Given the description of an element on the screen output the (x, y) to click on. 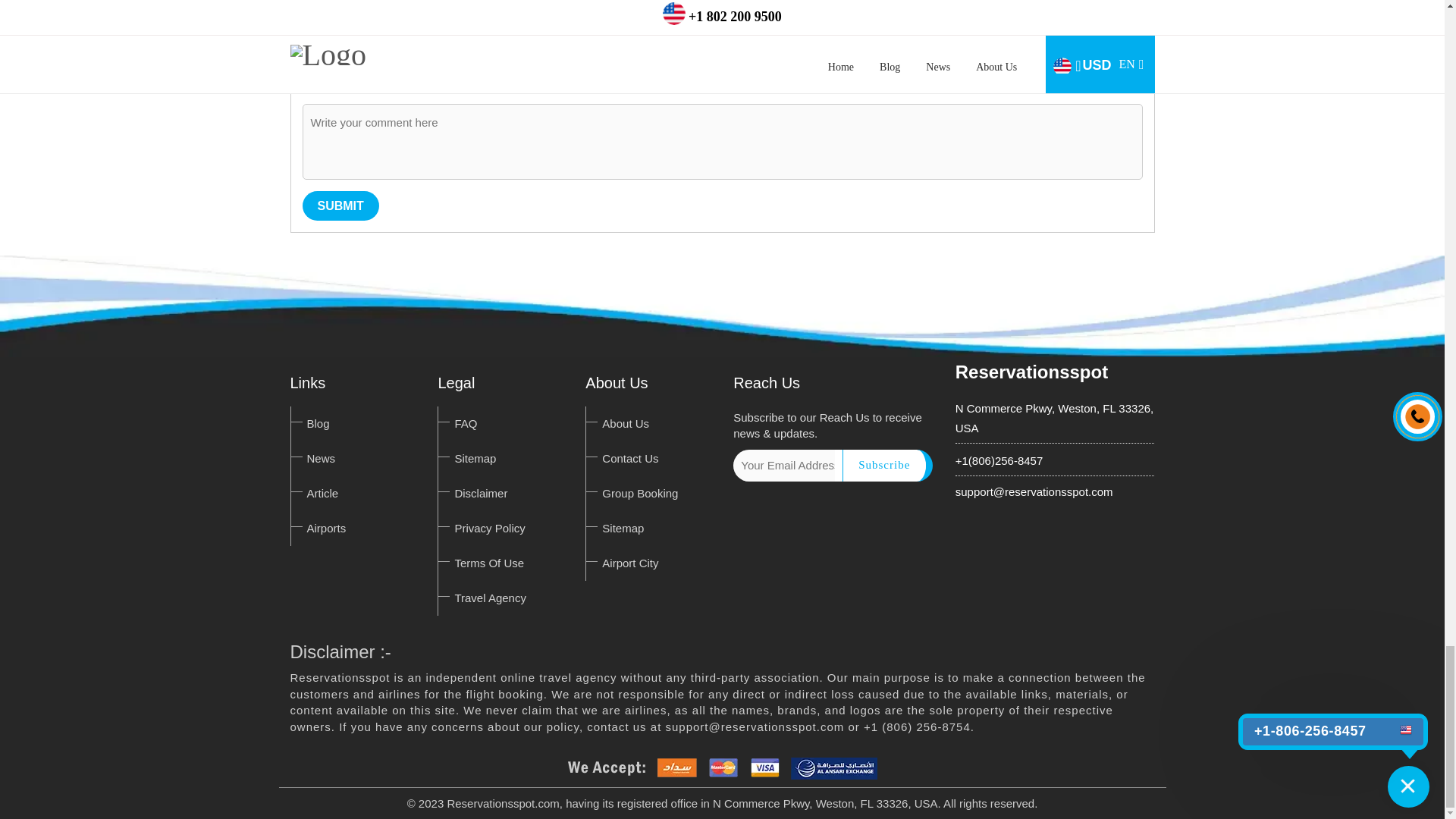
Travel Agency (489, 597)
Disclaimer (480, 492)
Contact Us (630, 458)
News (319, 458)
SUBMIT (339, 205)
Group Booking (640, 492)
Sitemap (475, 458)
About Us (625, 422)
Article (321, 492)
Terms Of Use (489, 562)
FAQ (465, 422)
Blog (317, 422)
Airports (325, 527)
Privacy Policy (489, 527)
